Given the description of an element on the screen output the (x, y) to click on. 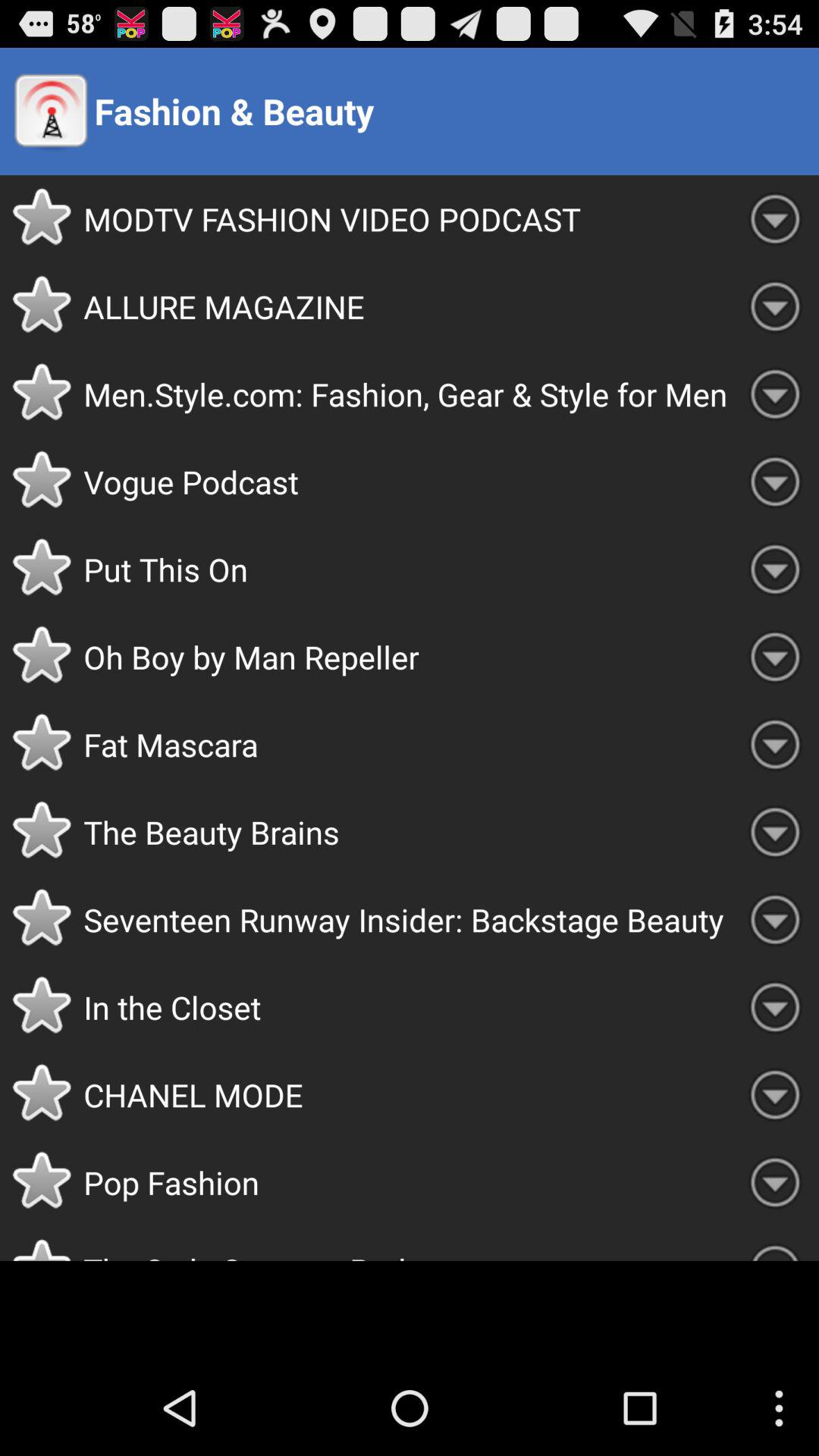
click the in the closet item (407, 1007)
